Given the description of an element on the screen output the (x, y) to click on. 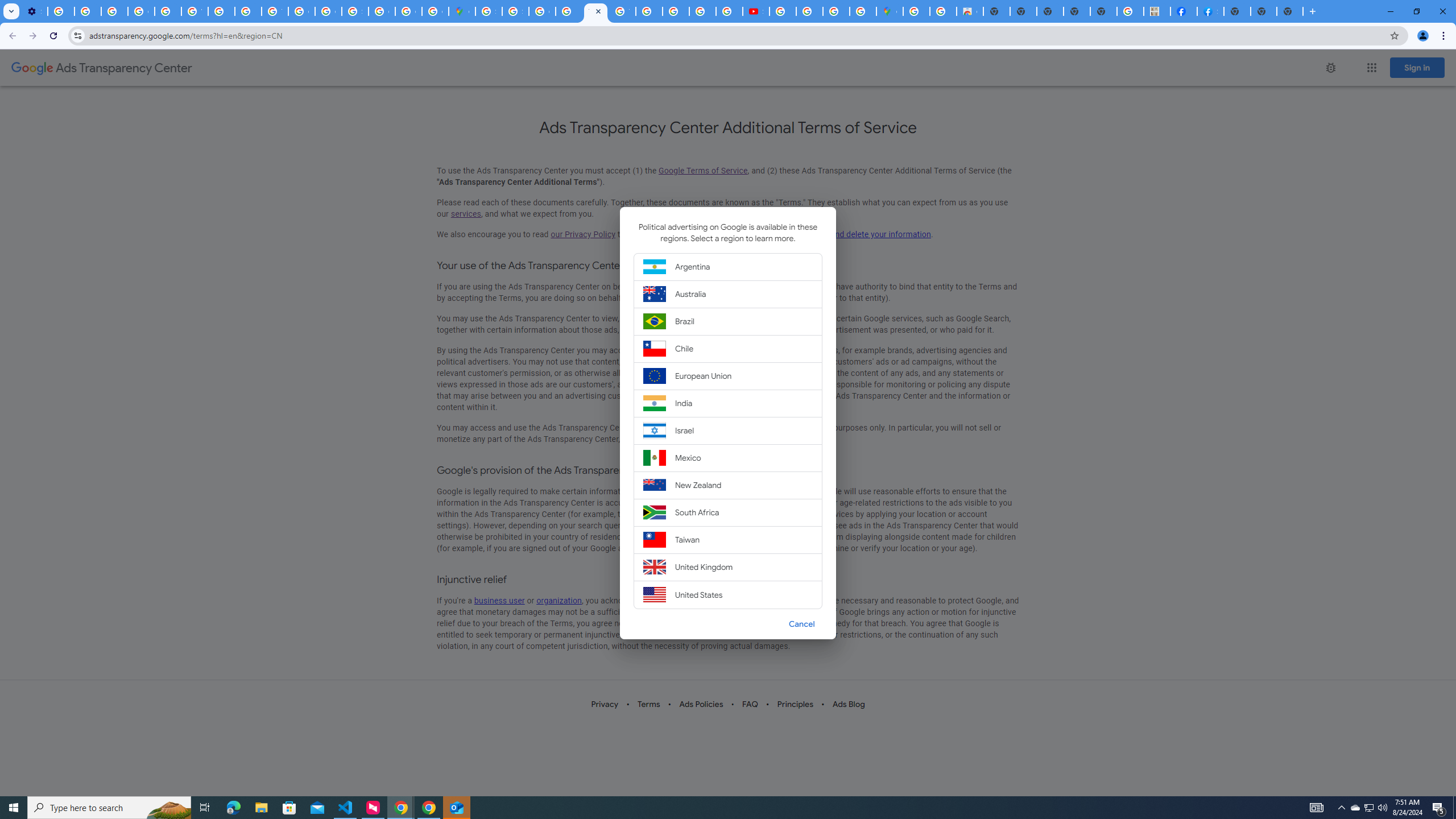
Google Maps (889, 11)
Australia (727, 293)
Sign in - Google Accounts (488, 11)
Delete photos & videos - Computer - Google Photos Help (61, 11)
European Union (727, 375)
Subscriptions - YouTube (756, 11)
Taiwan (727, 539)
update, manage, export, and delete your information (835, 234)
